Given the description of an element on the screen output the (x, y) to click on. 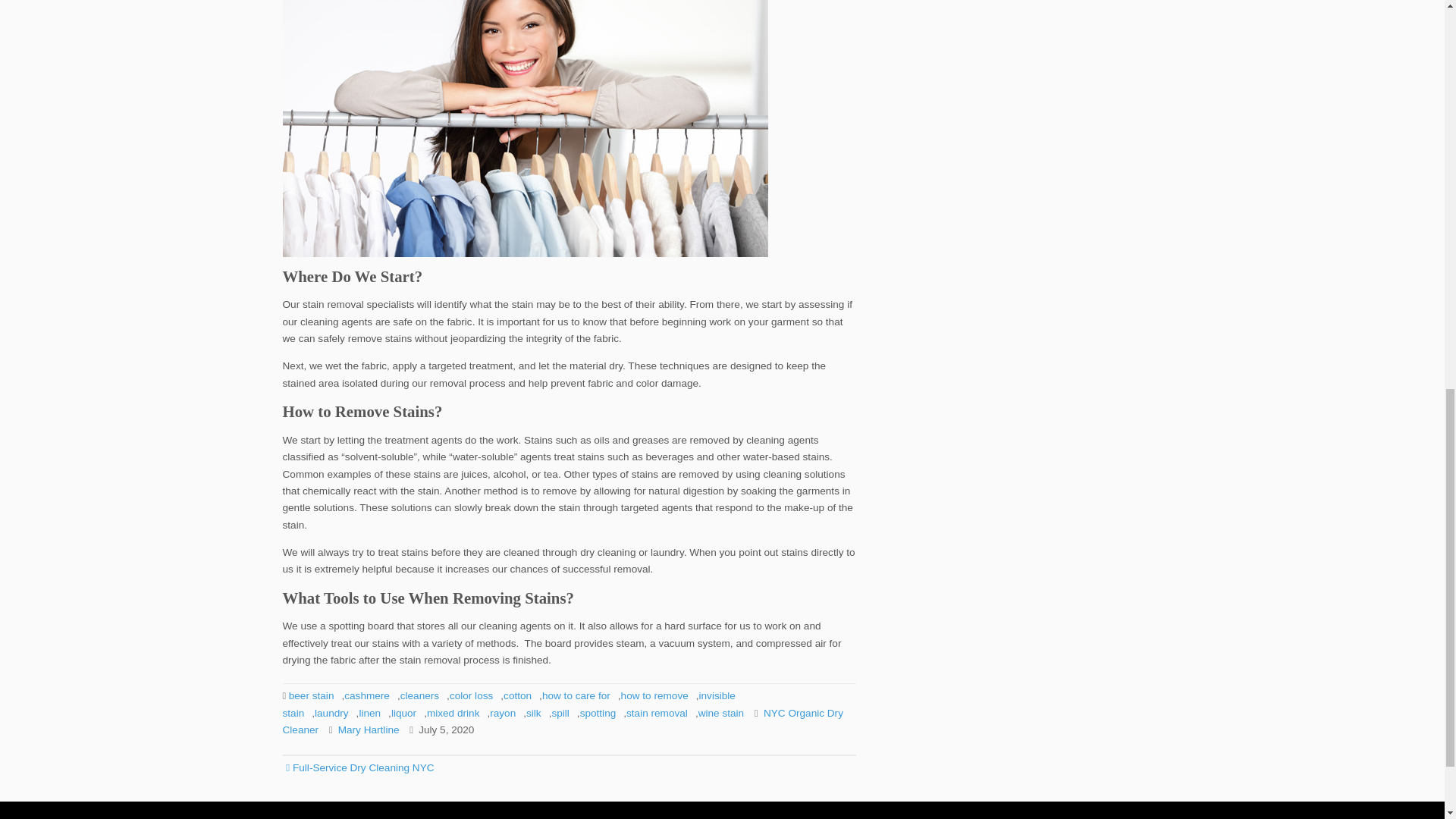
laundry (331, 713)
invisible stain (508, 704)
how to remove (654, 695)
cleaners (419, 695)
color loss (471, 695)
cashmere (366, 695)
linen (369, 713)
how to care for (575, 695)
beer stain (311, 695)
Mary Hartline (367, 729)
